Given the description of an element on the screen output the (x, y) to click on. 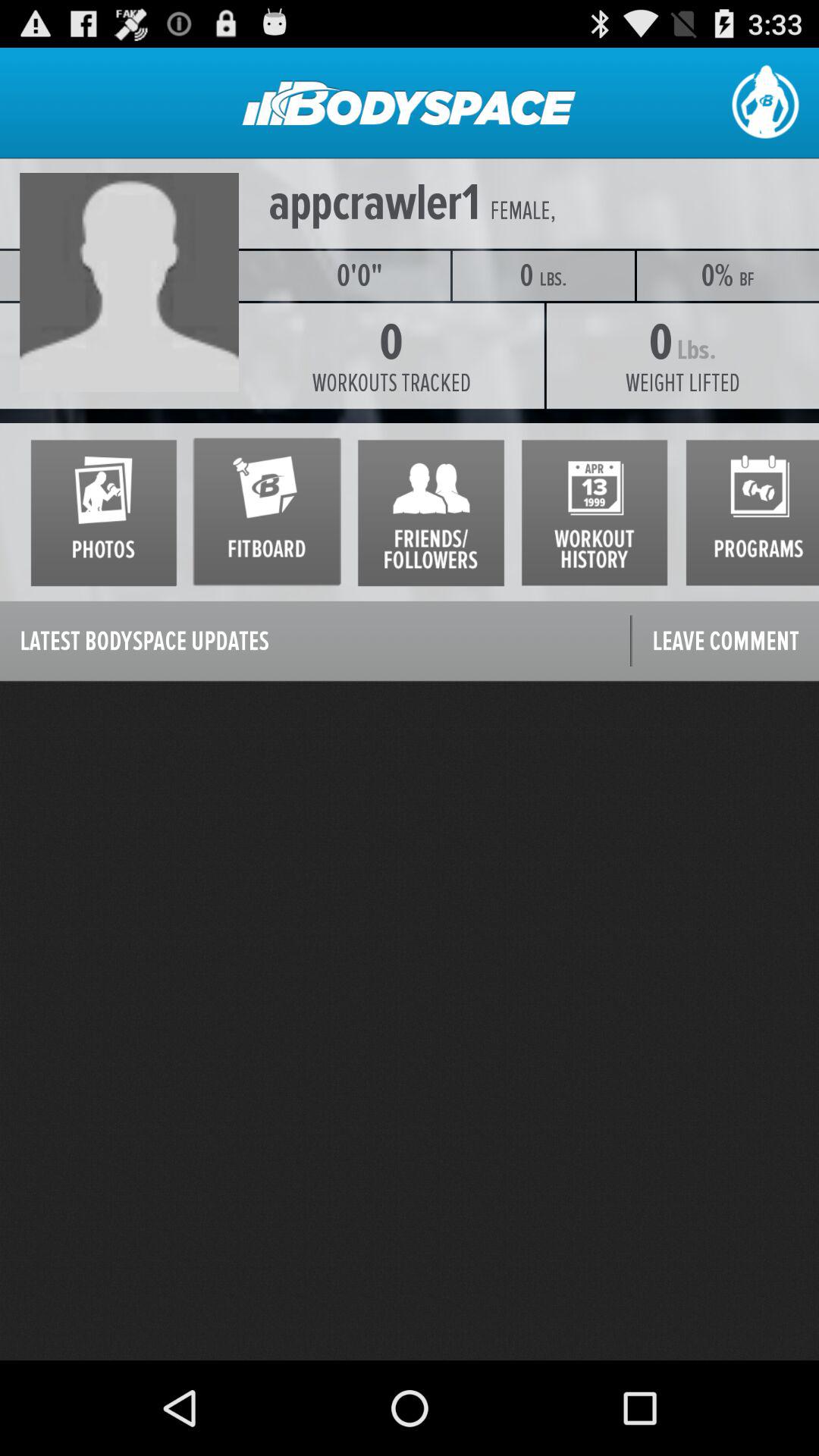
turn off item to the left of the female (374, 202)
